Given the description of an element on the screen output the (x, y) to click on. 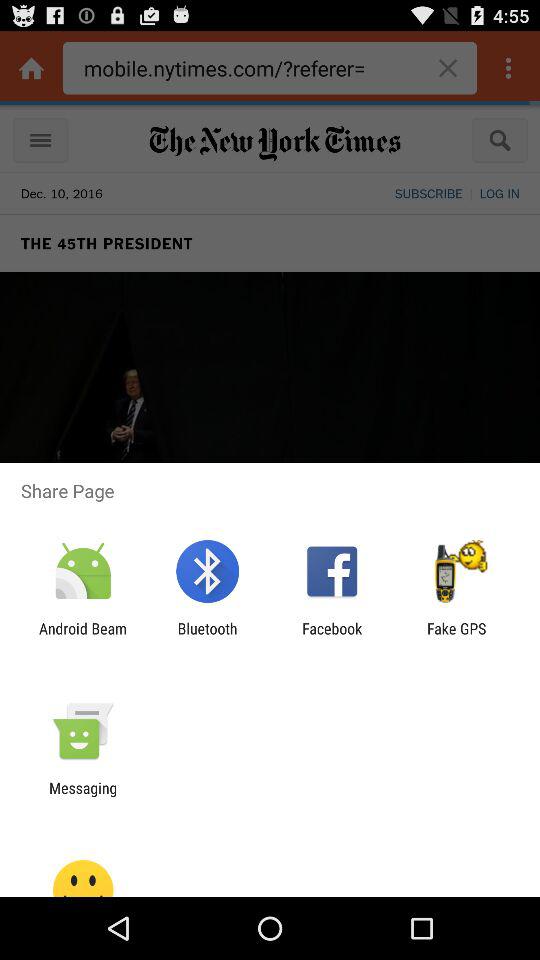
select fake gps item (456, 637)
